Given the description of an element on the screen output the (x, y) to click on. 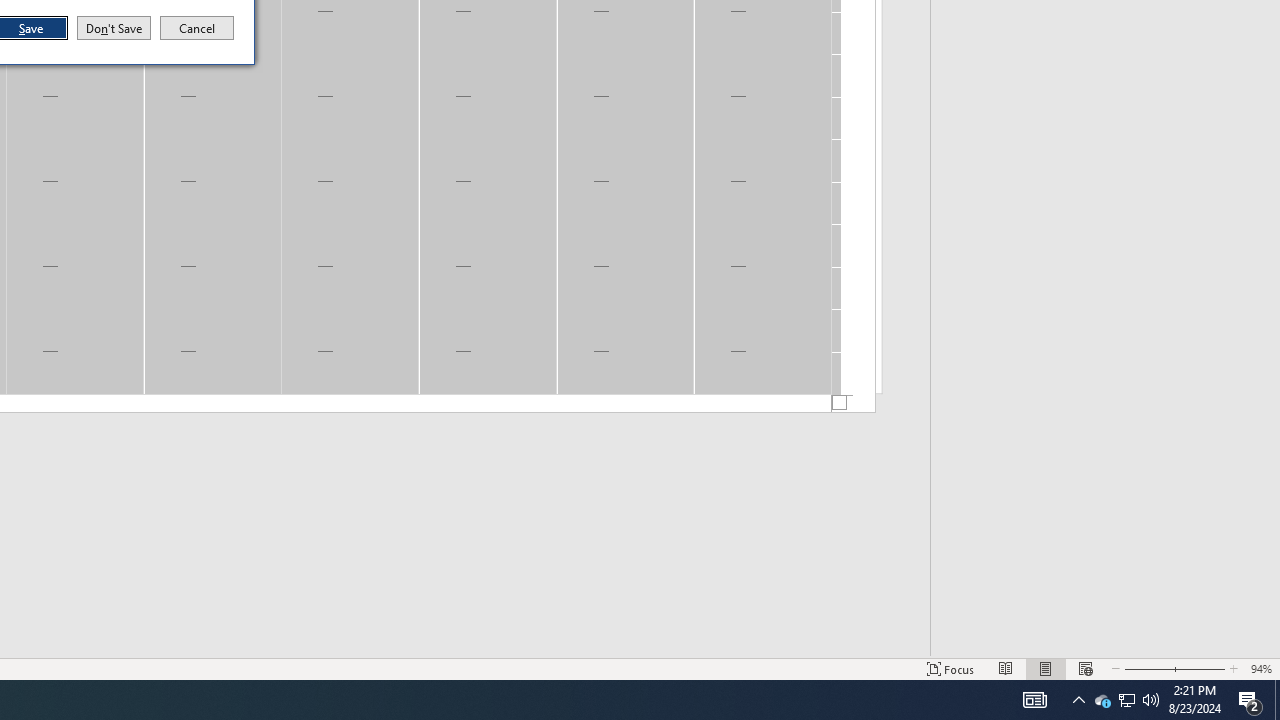
Notification Chevron (1078, 699)
Q2790: 100% (1151, 699)
Show desktop (1277, 699)
Web Layout (1085, 668)
Action Center, 2 new notifications (1250, 699)
Zoom Out (1147, 668)
Read Mode (1102, 699)
Print Layout (1005, 668)
Focus  (1046, 668)
AutomationID: 4105 (951, 668)
User Promoted Notification Area (1034, 699)
Zoom In (1126, 699)
